Given the description of an element on the screen output the (x, y) to click on. 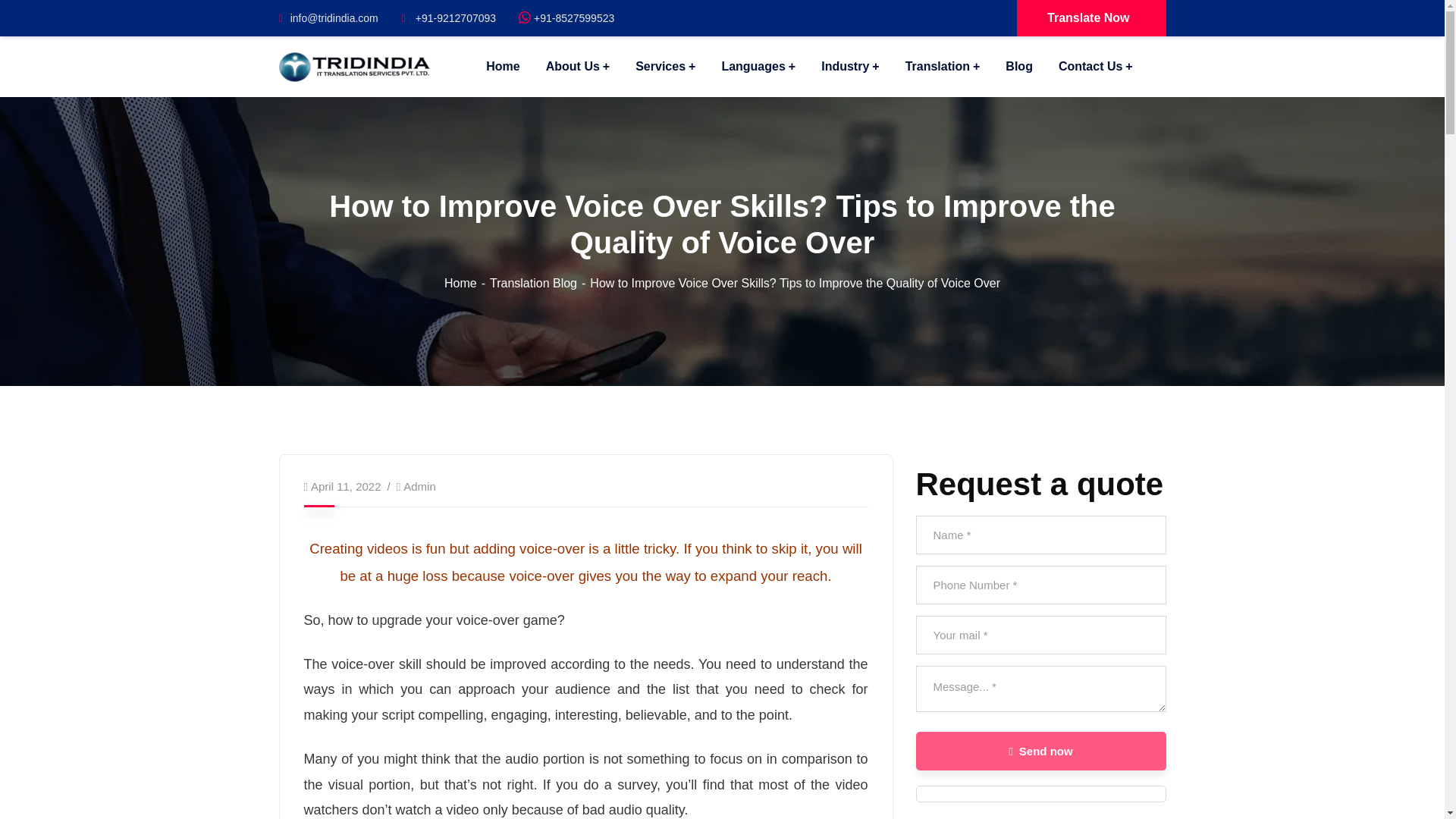
Translate Now (1091, 18)
Tridindia (354, 65)
Posts by Admin (419, 486)
Services (664, 66)
About Us (578, 66)
